Given the description of an element on the screen output the (x, y) to click on. 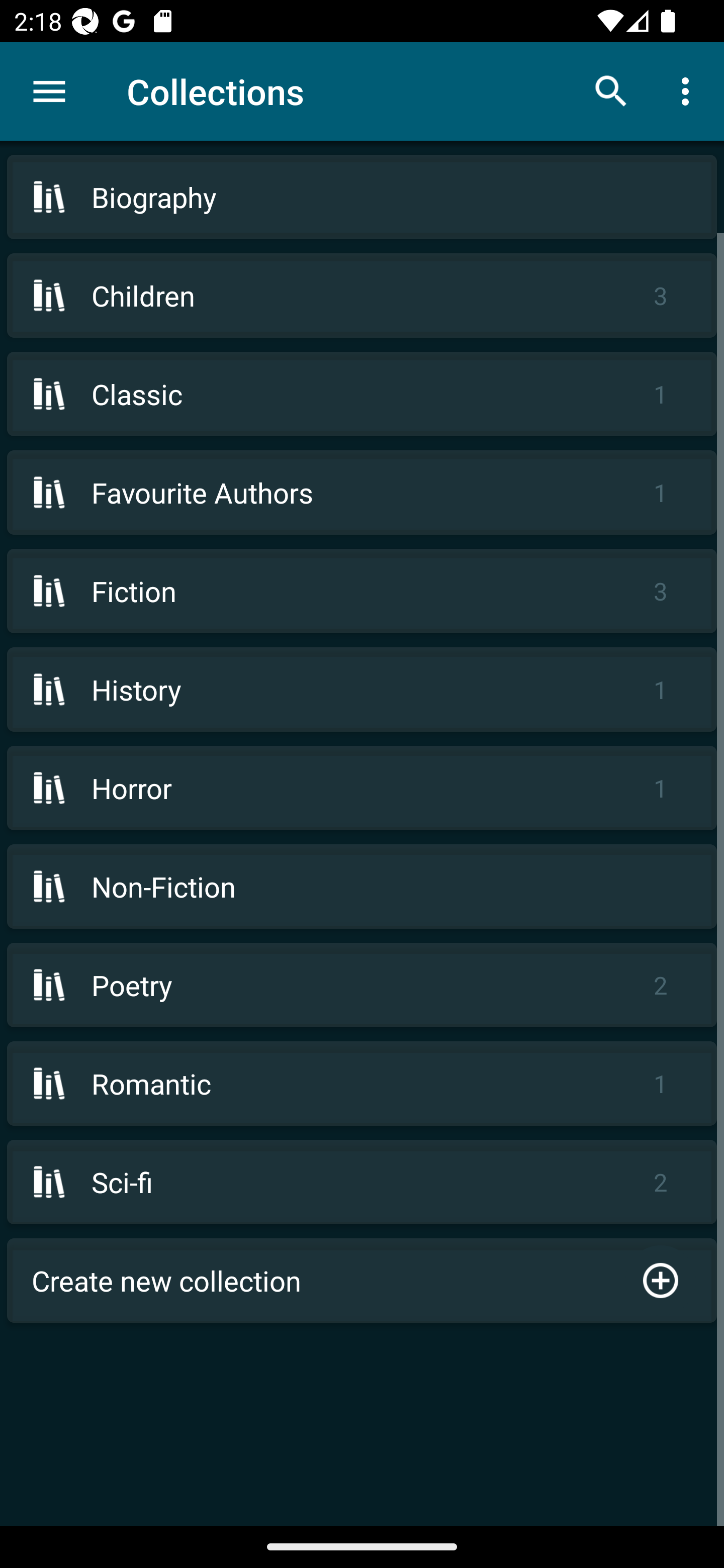
Menu (49, 91)
Search books & documents (611, 90)
More options (688, 90)
Biography (361, 197)
Children 3 (361, 295)
Classic 1 (361, 393)
Favourite Authors 1 (361, 492)
Fiction 3 (361, 590)
History 1 (361, 689)
Horror 1 (361, 787)
Non-Fiction (361, 885)
Poetry 2 (361, 984)
Romantic 1 (361, 1083)
Sci-fi 2 (361, 1181)
Create new collection (361, 1280)
